Given the description of an element on the screen output the (x, y) to click on. 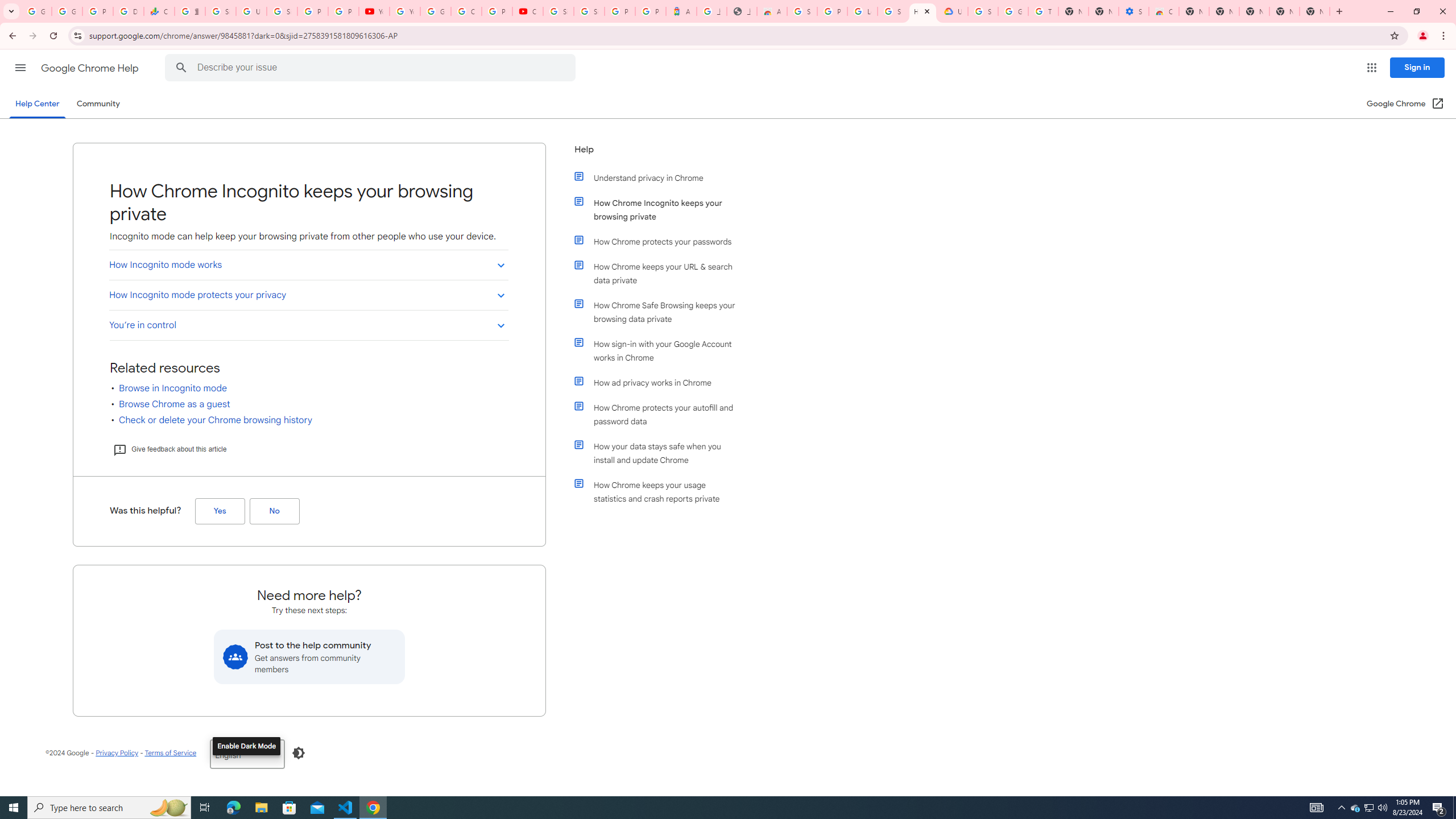
Create your Google Account (465, 11)
Chrome Web Store - Accessibility extensions (1163, 11)
Check or delete your Chrome browsing history (216, 419)
Help (656, 153)
Browse Chrome as a guest (174, 404)
Privacy Checkup (343, 11)
Atour Hotel - Google hotels (681, 11)
Settings - Accessibility (1133, 11)
